Given the description of an element on the screen output the (x, y) to click on. 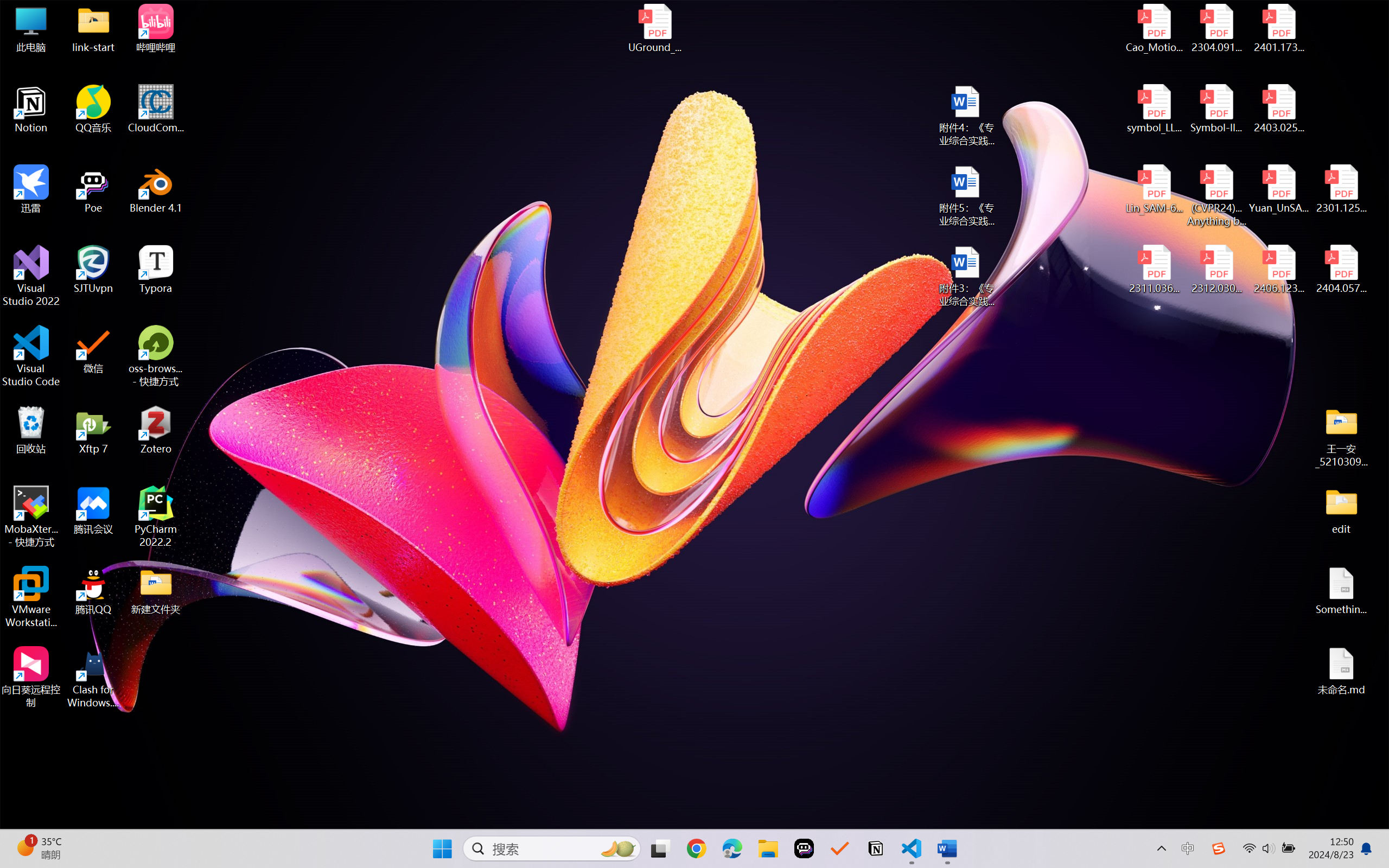
UGround_paper.pdf (654, 28)
2403.02502v1.pdf (1278, 109)
Typora (156, 269)
Visual Studio 2022 (31, 276)
2406.12373v2.pdf (1278, 269)
